Given the description of an element on the screen output the (x, y) to click on. 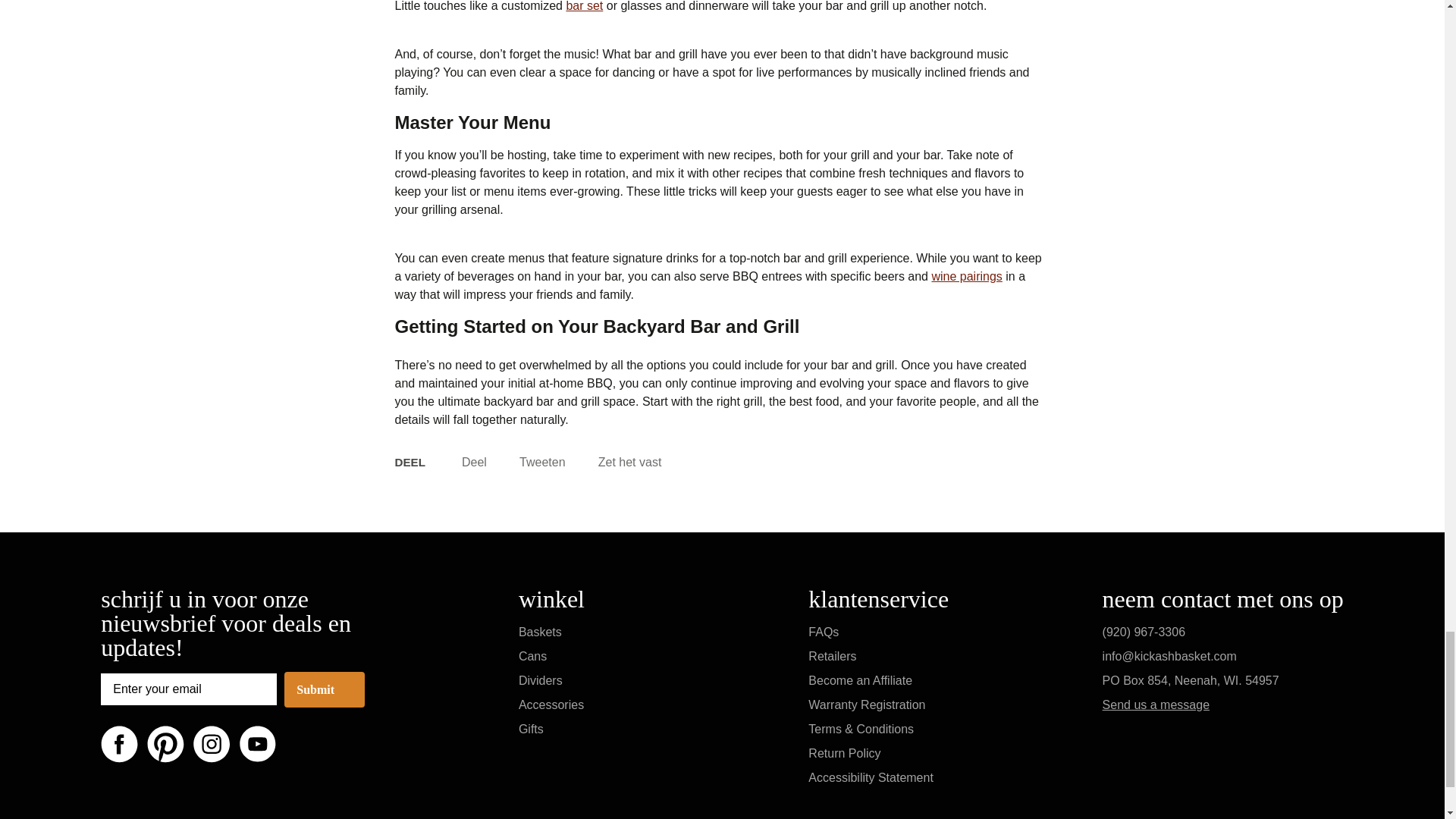
Newsletter Signup Form (188, 689)
